Given the description of an element on the screen output the (x, y) to click on. 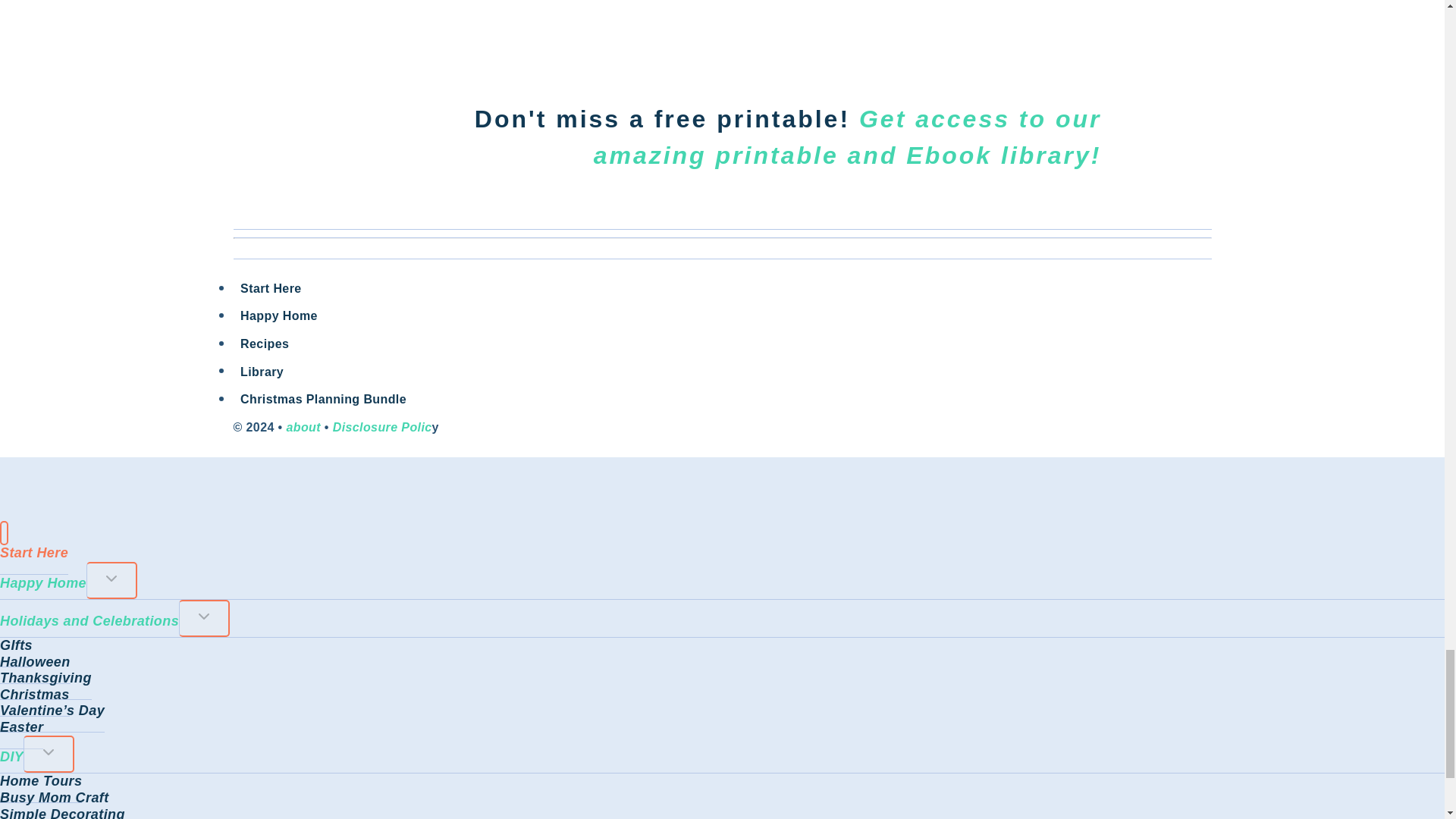
Expand (203, 616)
Get access to our amazing printable and Ebook library! (848, 136)
Expand (110, 578)
Food and Drink (264, 343)
Start Here (270, 288)
Expand (48, 751)
